Given the description of an element on the screen output the (x, y) to click on. 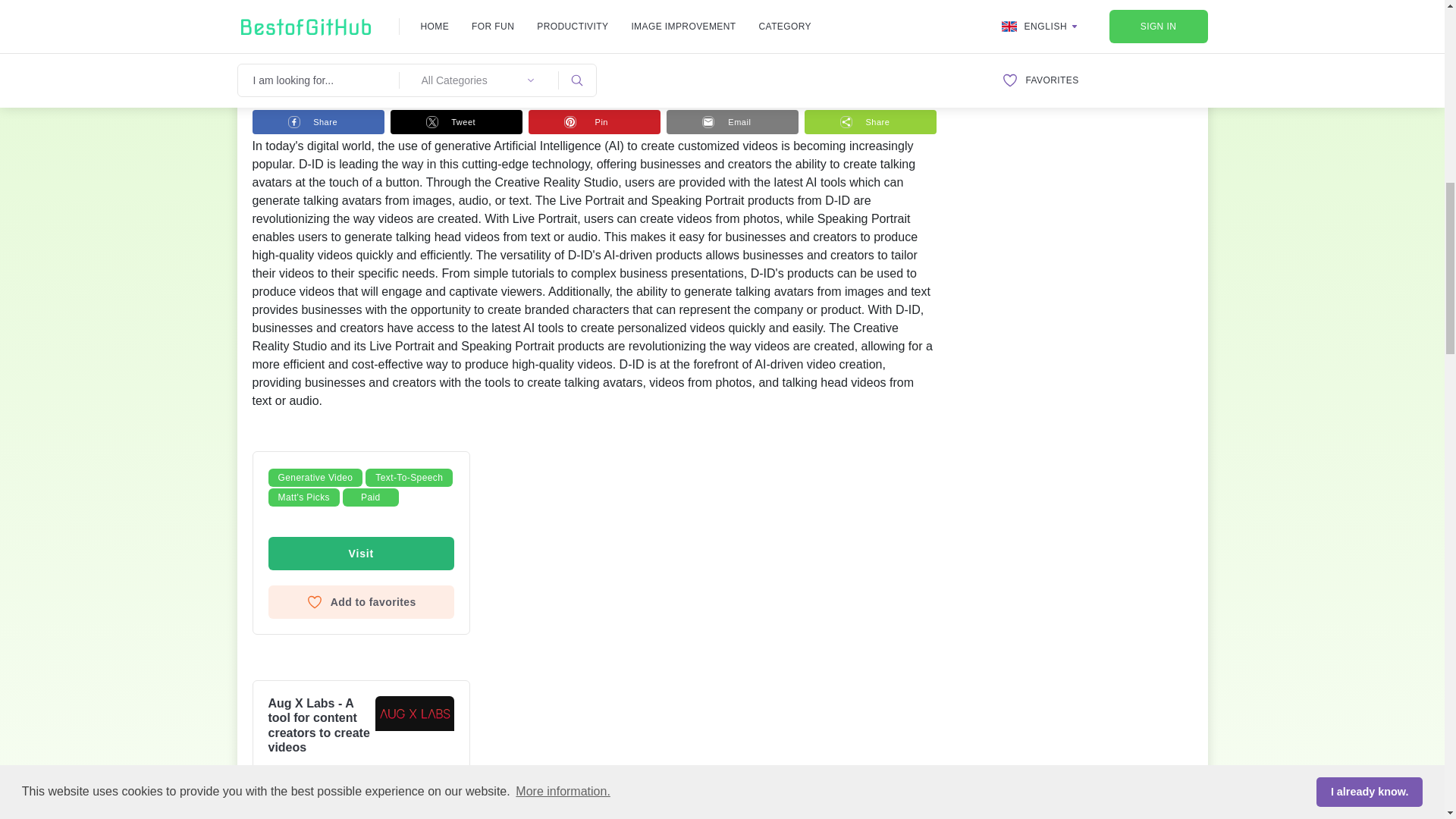
Text-To-Speech (408, 477)
Generative Video (314, 477)
Matt's Picks (303, 497)
